Given the description of an element on the screen output the (x, y) to click on. 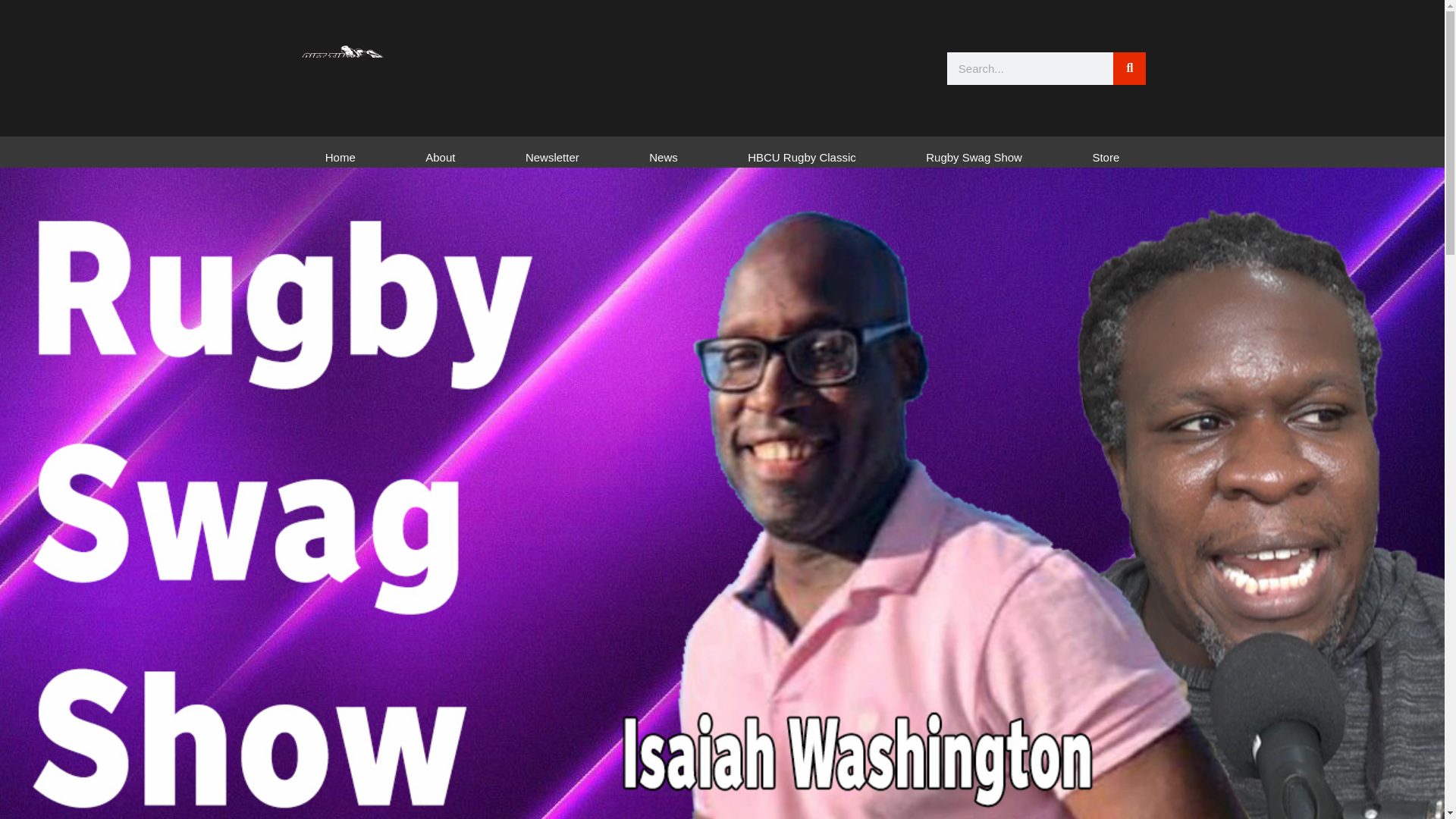
Rugby Swag Show (974, 157)
HBCU Rugby Classic (802, 157)
Store (1105, 157)
News (663, 157)
Home (339, 157)
Newsletter (552, 157)
About (440, 157)
